Given the description of an element on the screen output the (x, y) to click on. 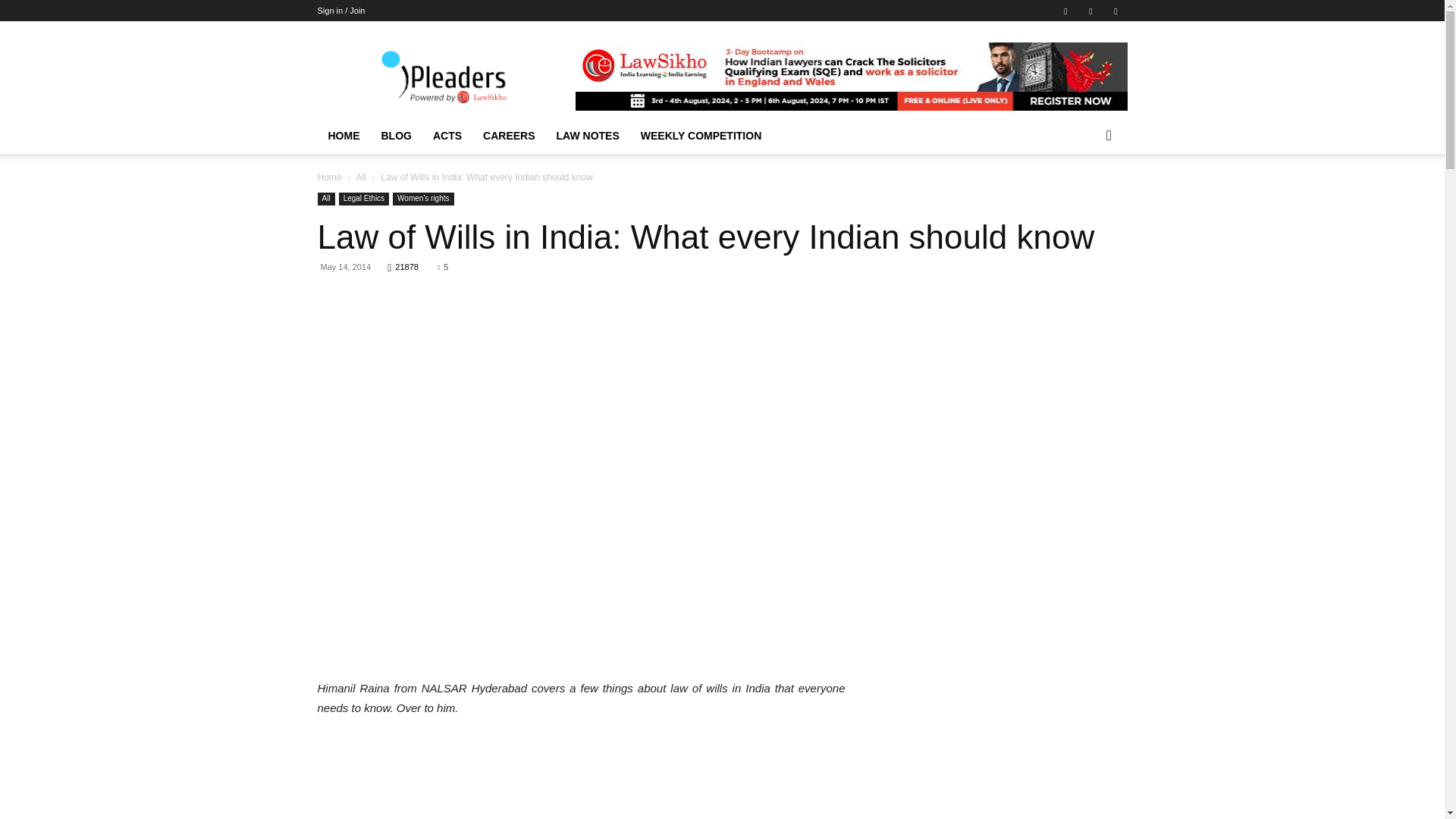
Twitter (1114, 10)
RSS (1090, 10)
Facebook (1065, 10)
View all posts in All (360, 176)
